Given the description of an element on the screen output the (x, y) to click on. 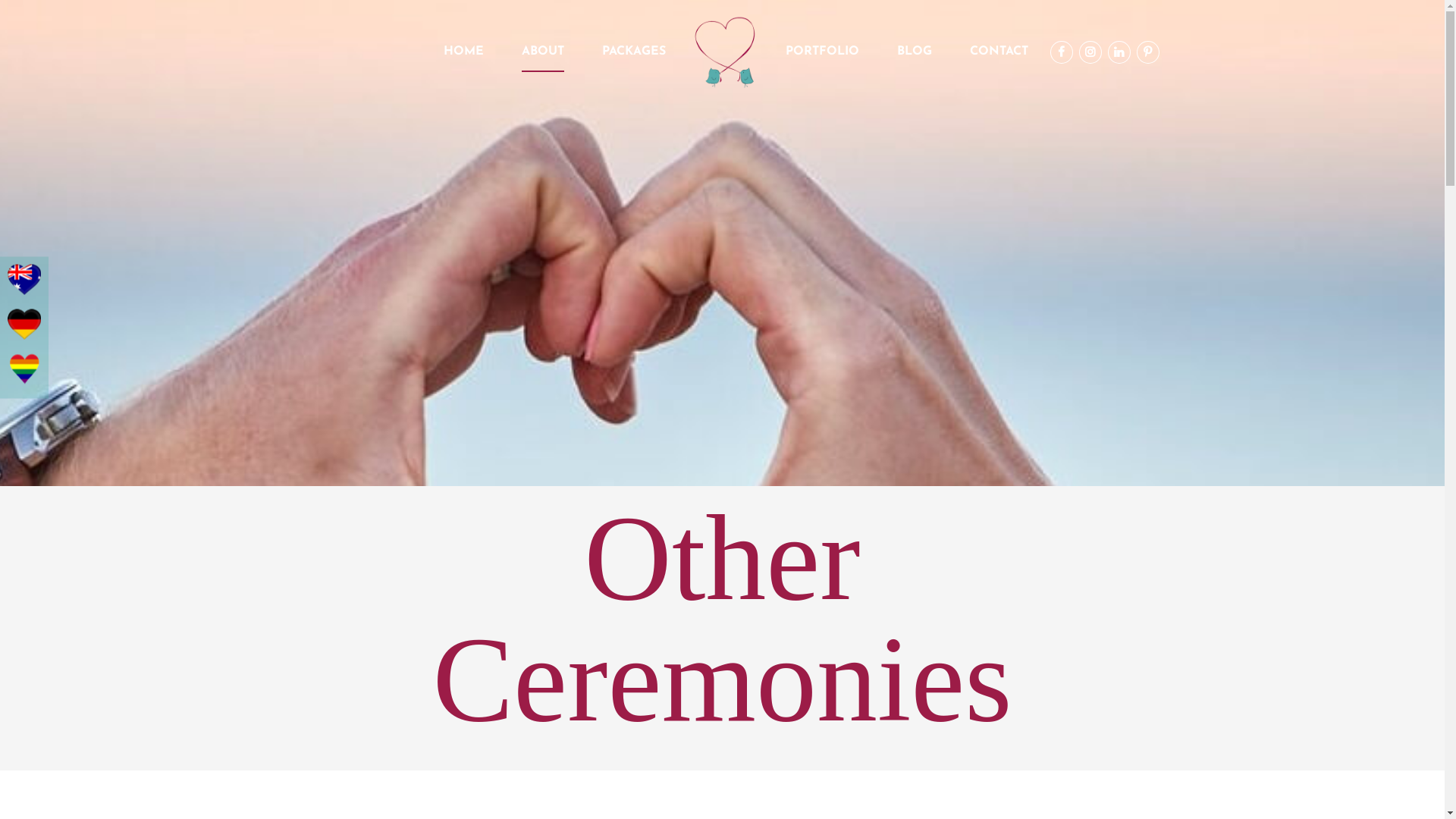
HOME Element type: text (462, 51)
ABOUT Element type: text (542, 52)
English Website Element type: hover (23, 282)
Gay Friendly Element type: hover (23, 371)
PACKAGES Element type: text (633, 51)
BLOG Element type: text (913, 51)
CONTACT Element type: text (998, 51)
German Website Element type: hover (23, 327)
PORTFOLIO Element type: text (822, 51)
